Given the description of an element on the screen output the (x, y) to click on. 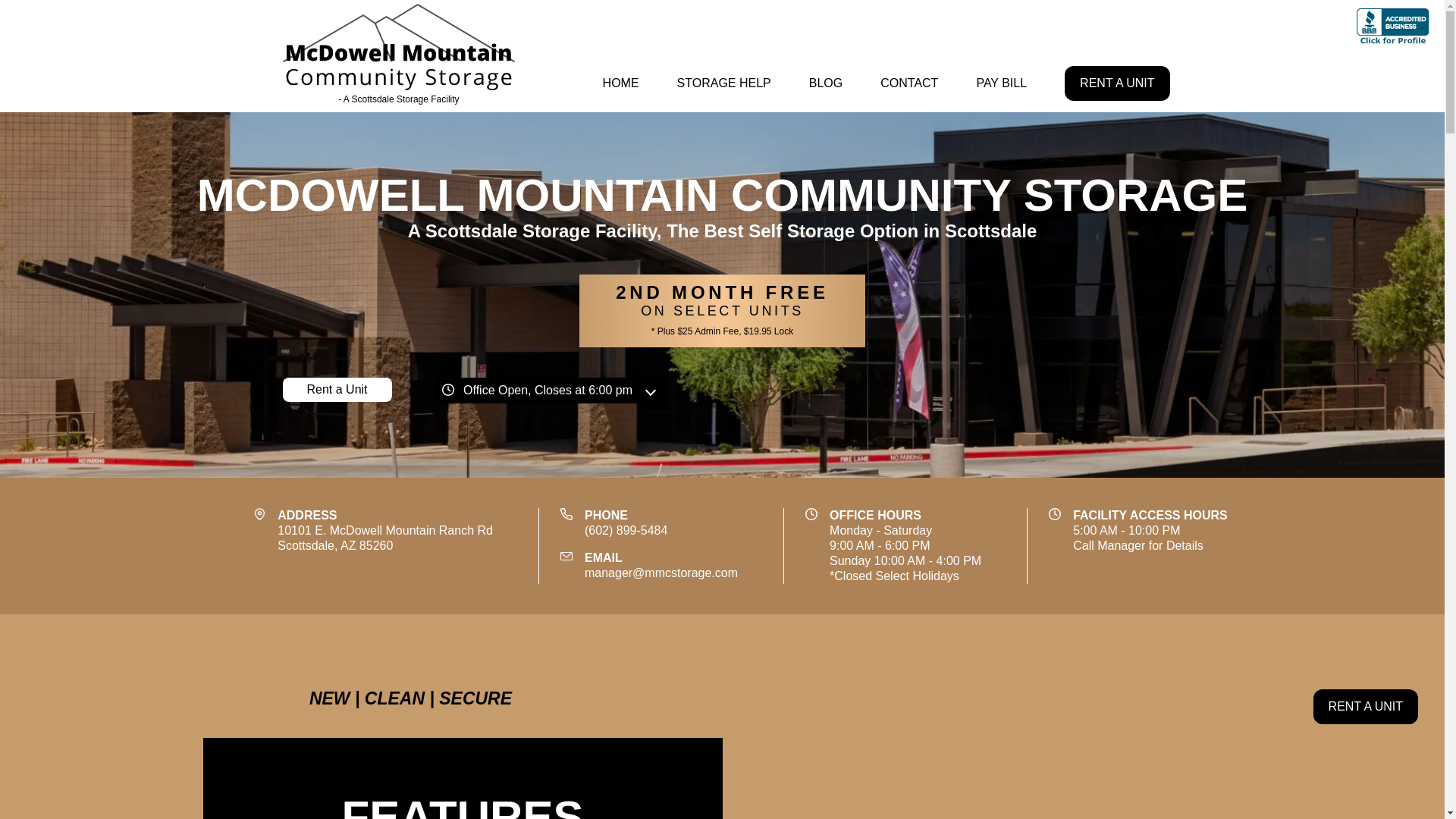
Rent a Unit (385, 538)
RENT A UNIT (336, 389)
BLOG (1116, 83)
HOME (825, 83)
- A Scottsdale Storage Facility (620, 83)
Office Open, Closes at 6:00 pm (398, 56)
CONTACT (547, 390)
PAY BILL (908, 83)
RENT A UNIT (1001, 83)
